Given the description of an element on the screen output the (x, y) to click on. 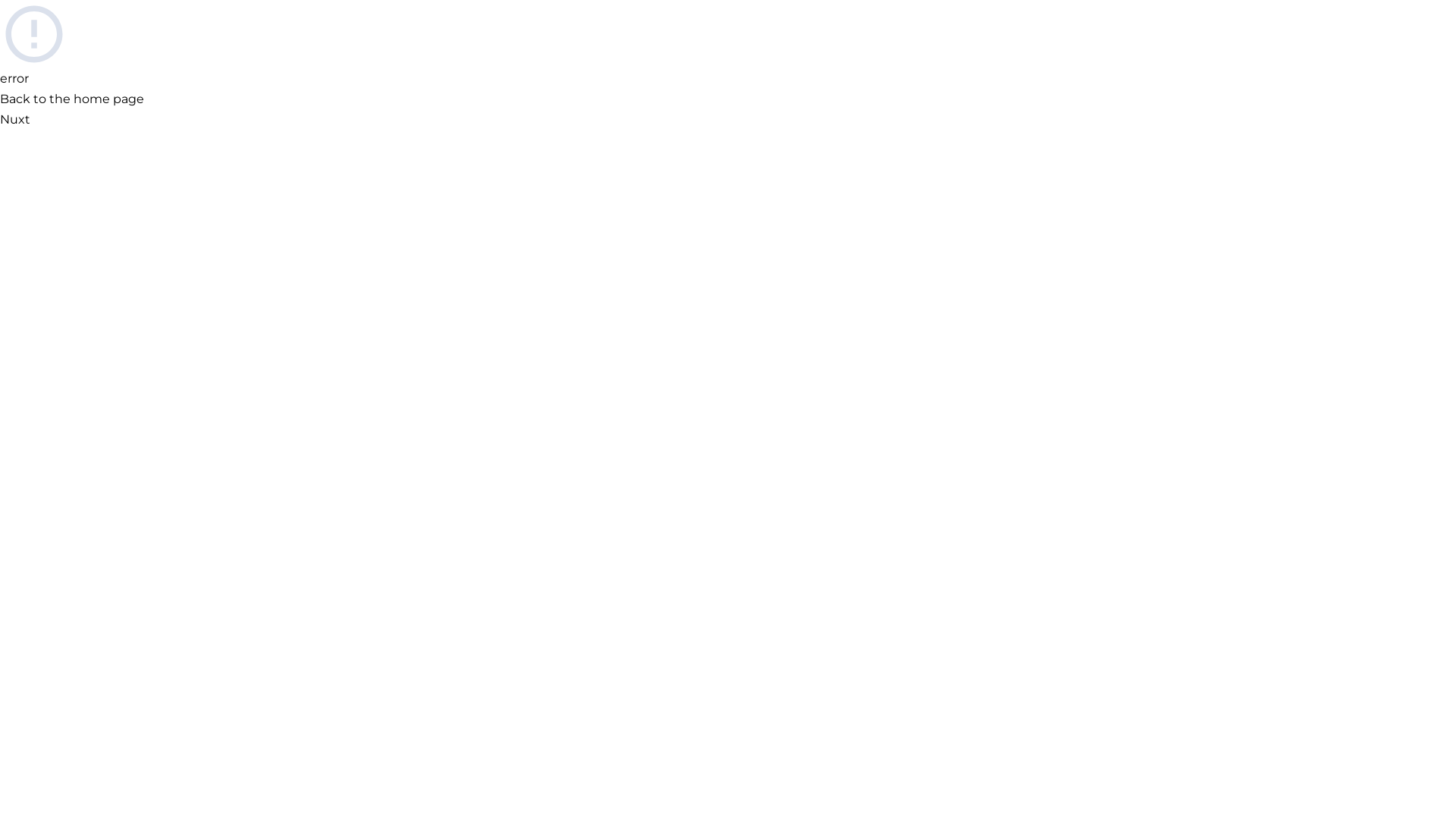
Nuxt Element type: text (15, 119)
Back to the home page Element type: text (72, 98)
